Given the description of an element on the screen output the (x, y) to click on. 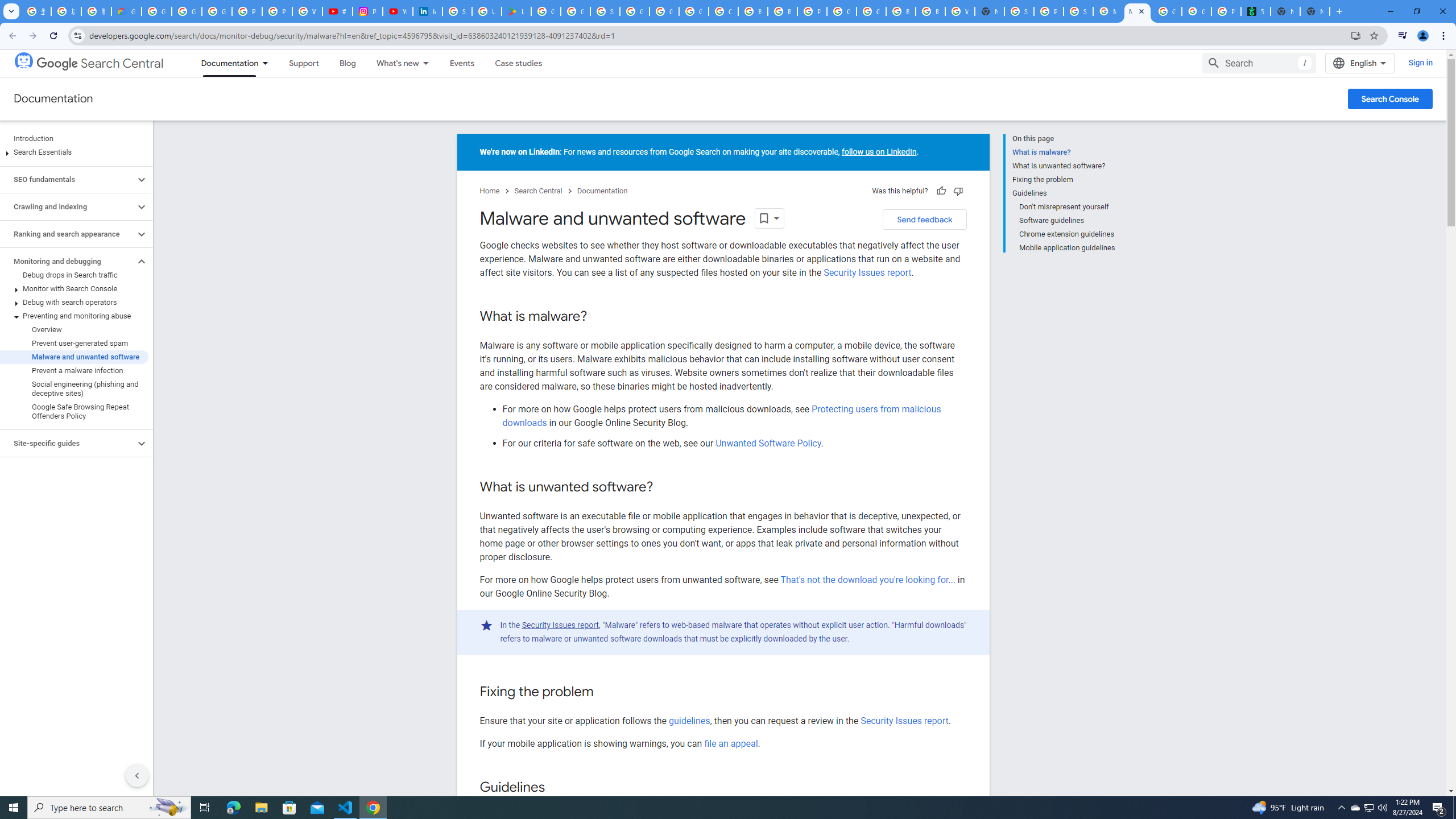
file an appeal (731, 743)
Documentation (601, 191)
New Tab (989, 11)
Helpful (940, 190)
Prevent user-generated spam (74, 343)
Mobile application guidelines (1067, 246)
Protecting users from malicious downloads (721, 415)
Browse Chrome as a guest - Computer - Google Chrome Help (930, 11)
Google Search Central (23, 60)
Sign in - Google Accounts (456, 11)
